Given the description of an element on the screen output the (x, y) to click on. 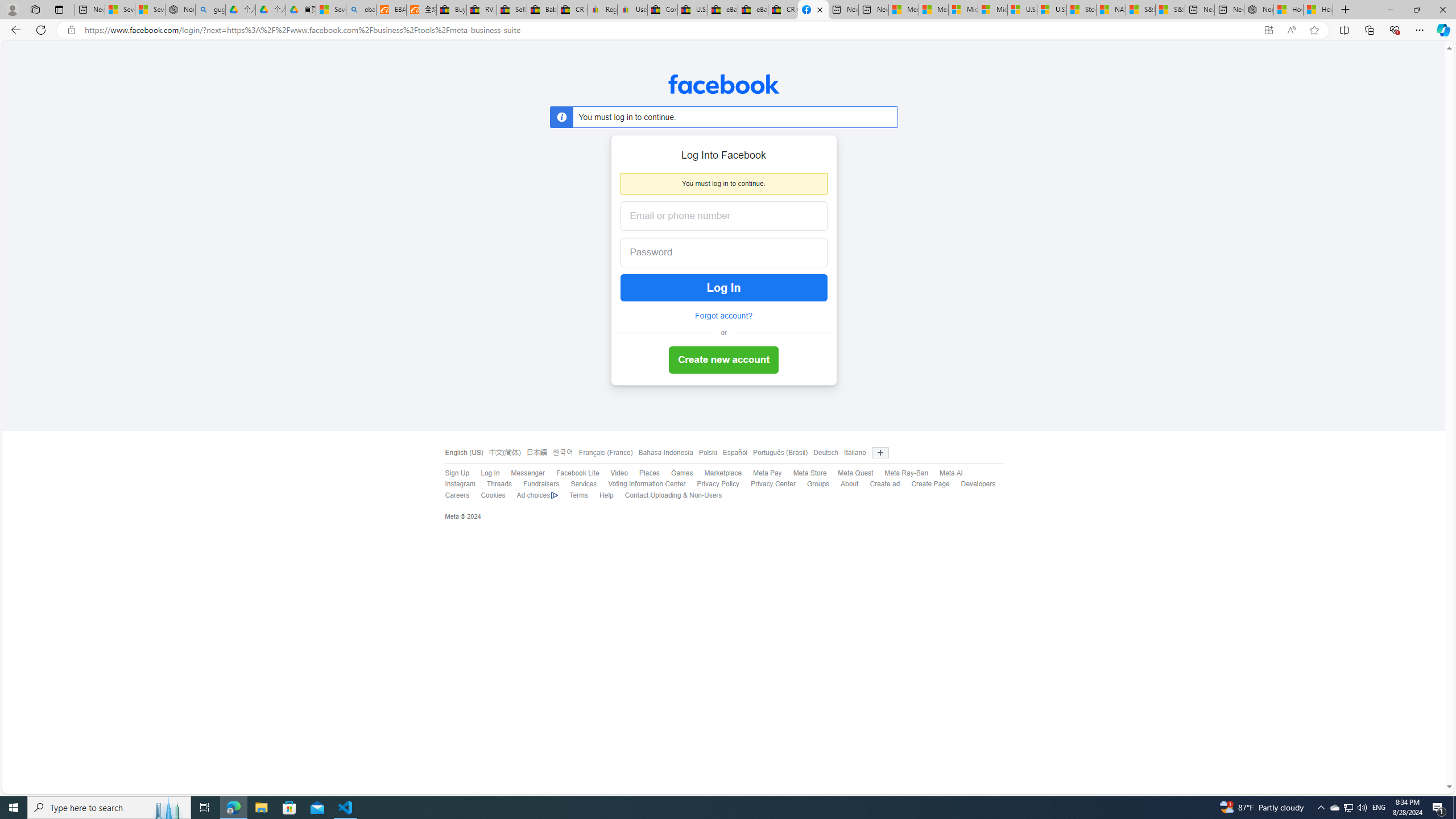
Privacy Policy (718, 483)
Instagram (460, 483)
Help (600, 495)
Log In (723, 288)
RV, Trailer & Camper Steps & Ladders for sale | eBay (481, 9)
Groups (817, 483)
Meta Store (810, 473)
Terms (572, 495)
Developers (977, 483)
Email or phone number (723, 216)
Sell worldwide with eBay (511, 9)
